Given the description of an element on the screen output the (x, y) to click on. 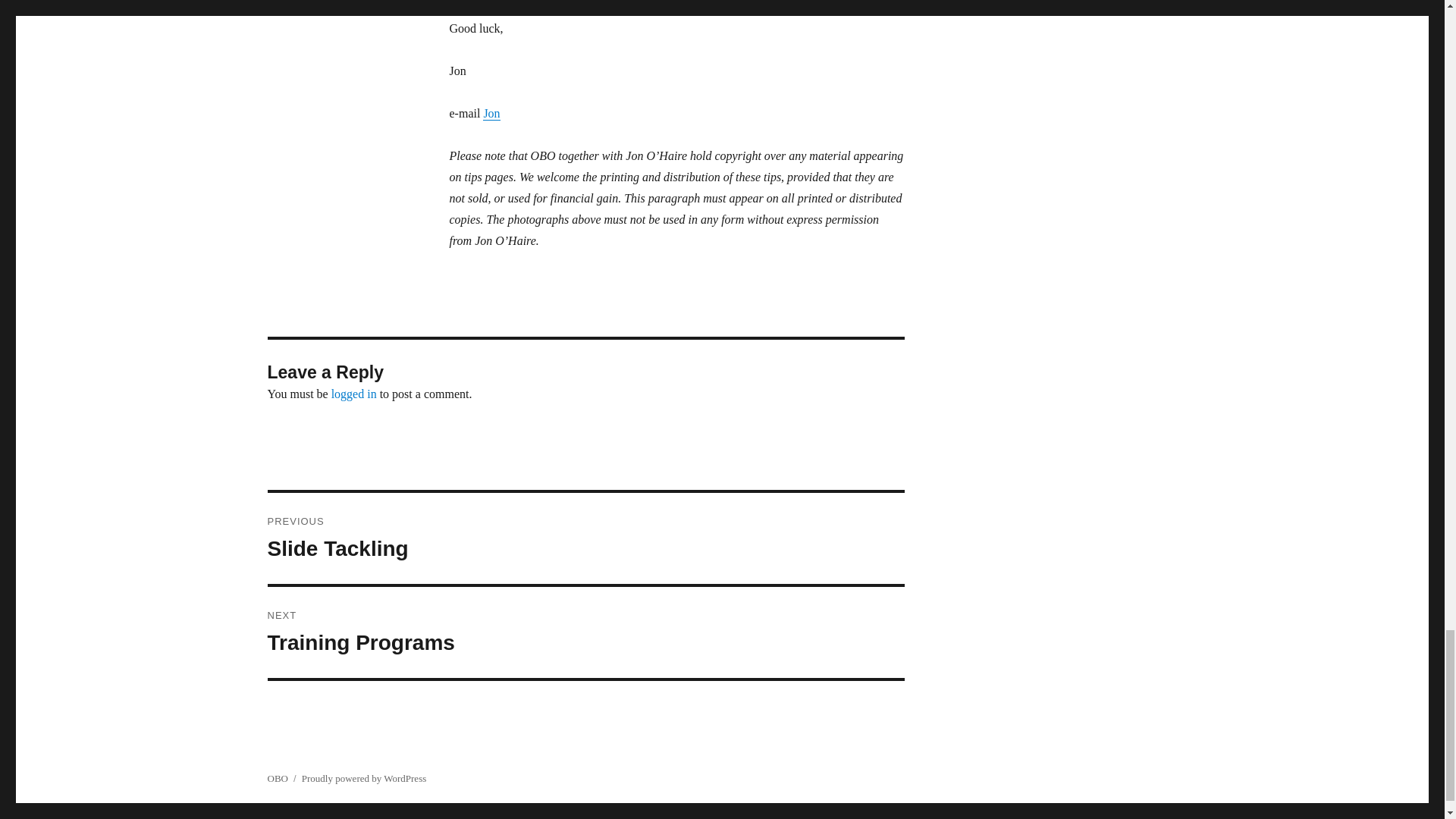
Jon (585, 538)
logged in (491, 113)
